Given the description of an element on the screen output the (x, y) to click on. 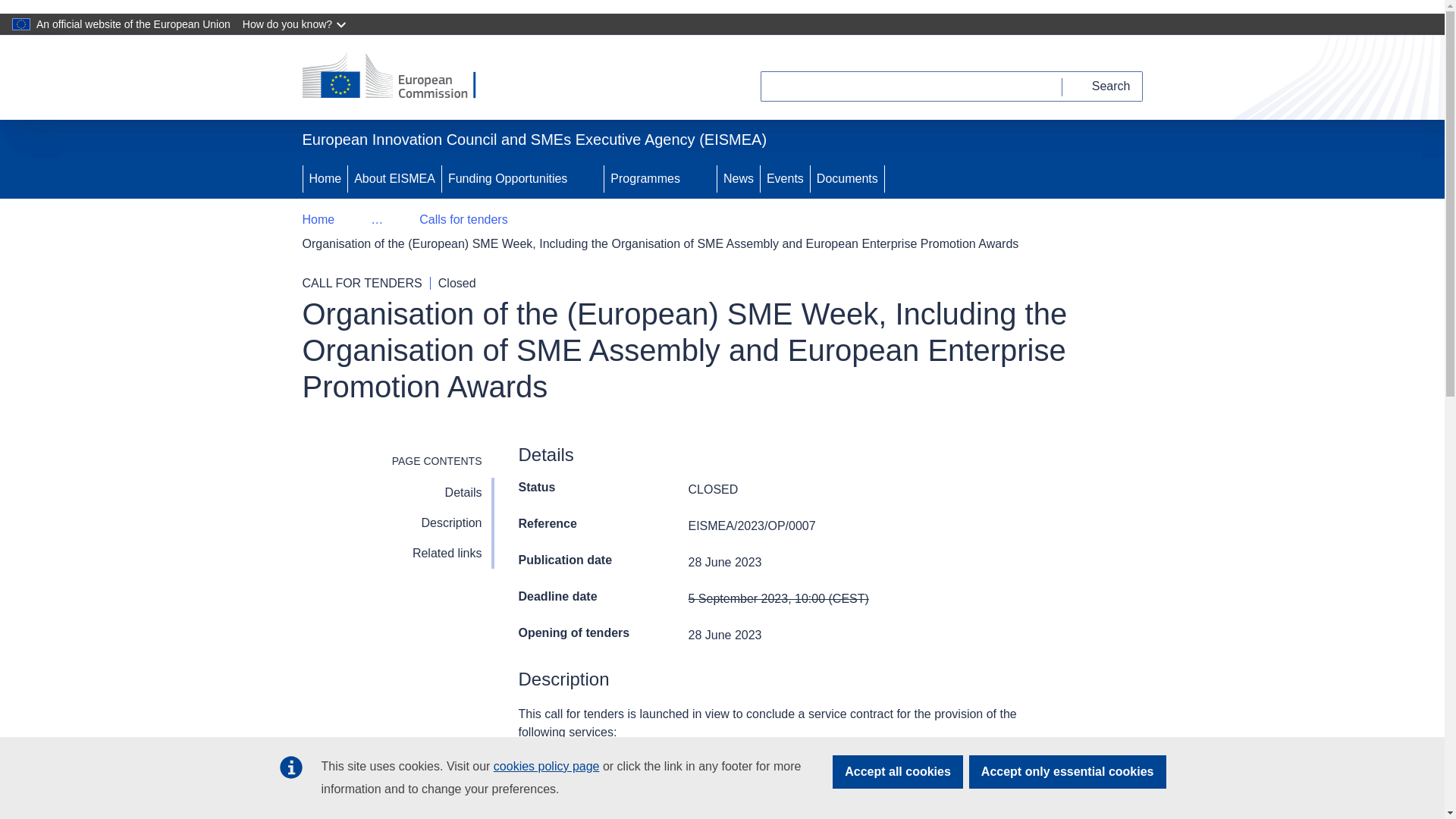
Home (317, 219)
News (738, 178)
Funding Opportunities (506, 178)
Calls for tenders (463, 219)
Accept only essential cookies (1067, 771)
Details (397, 492)
cookies policy page (546, 766)
Events (784, 178)
European Commission (399, 77)
Related links (397, 553)
Accept all cookies (897, 771)
Description (397, 522)
Programmes (643, 178)
Search (1102, 86)
